Given the description of an element on the screen output the (x, y) to click on. 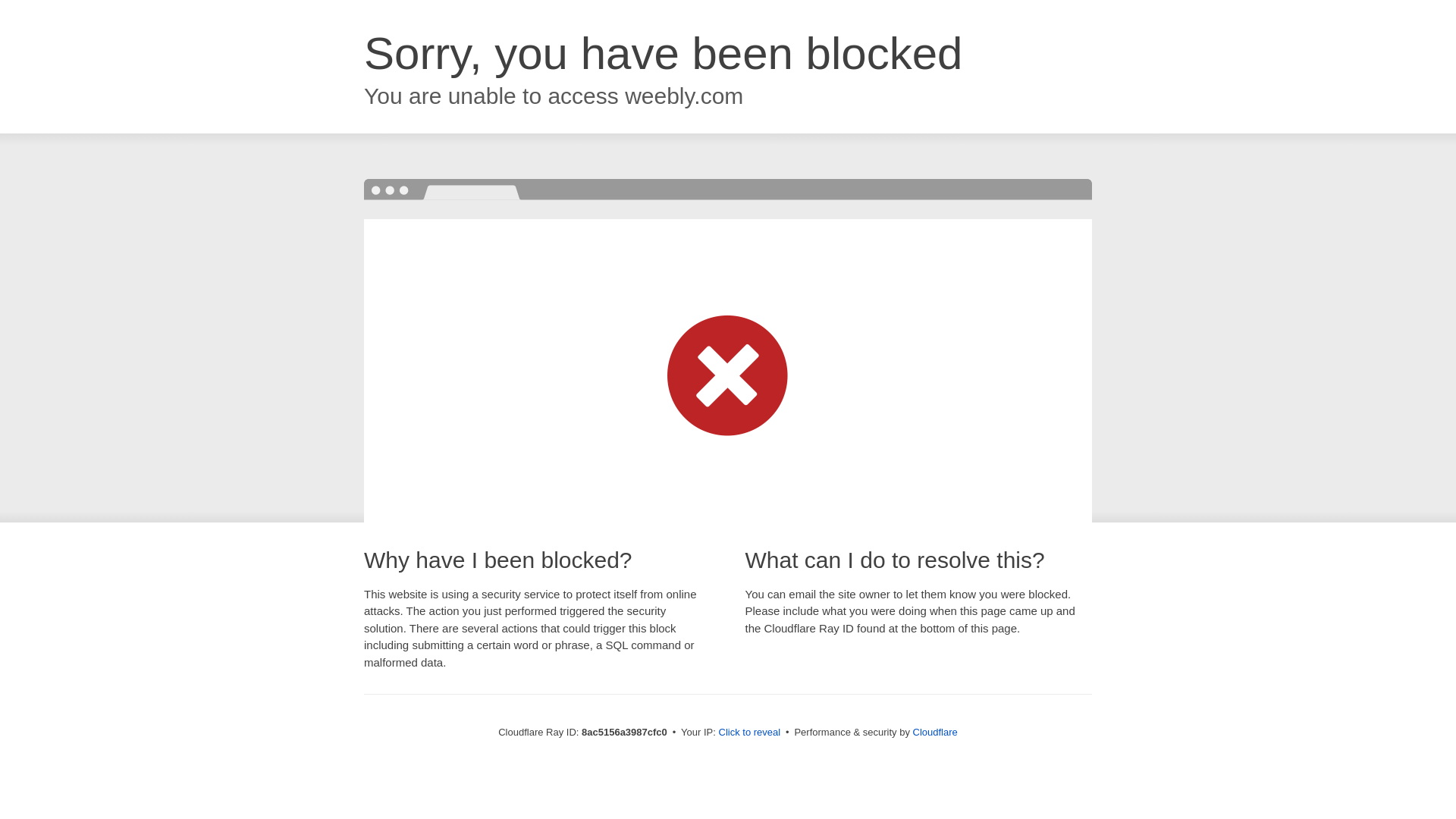
Click to reveal (749, 732)
Cloudflare (935, 731)
